Given the description of an element on the screen output the (x, y) to click on. 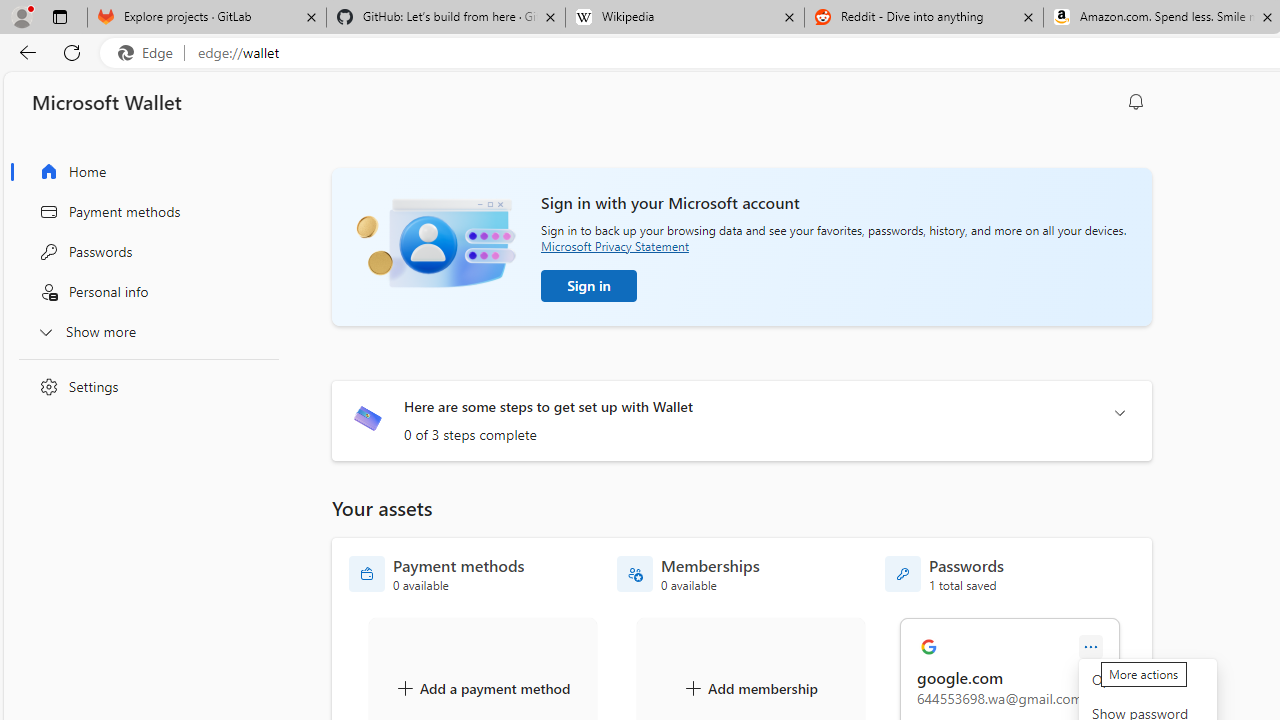
More actions (1091, 647)
Payment methods - 0 available (437, 573)
Passwords (143, 252)
Open website (1148, 679)
Notification (1136, 101)
Wikipedia (684, 17)
Payment methods (143, 211)
Sign in (589, 285)
Memberships - 0 available (688, 573)
Personal info (143, 292)
